Given the description of an element on the screen output the (x, y) to click on. 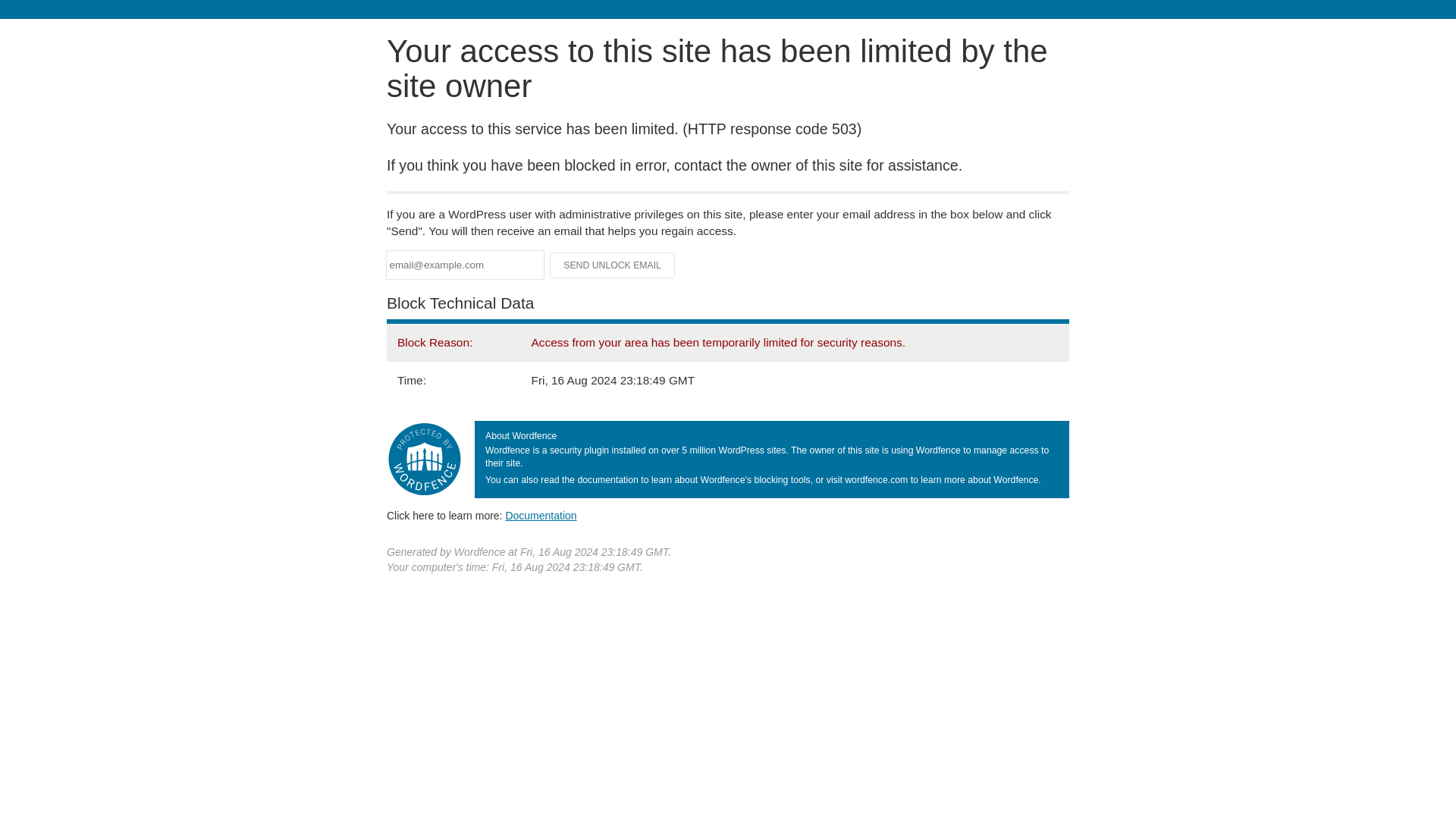
Send Unlock Email (612, 265)
Documentation (540, 515)
Send Unlock Email (612, 265)
